Given the description of an element on the screen output the (x, y) to click on. 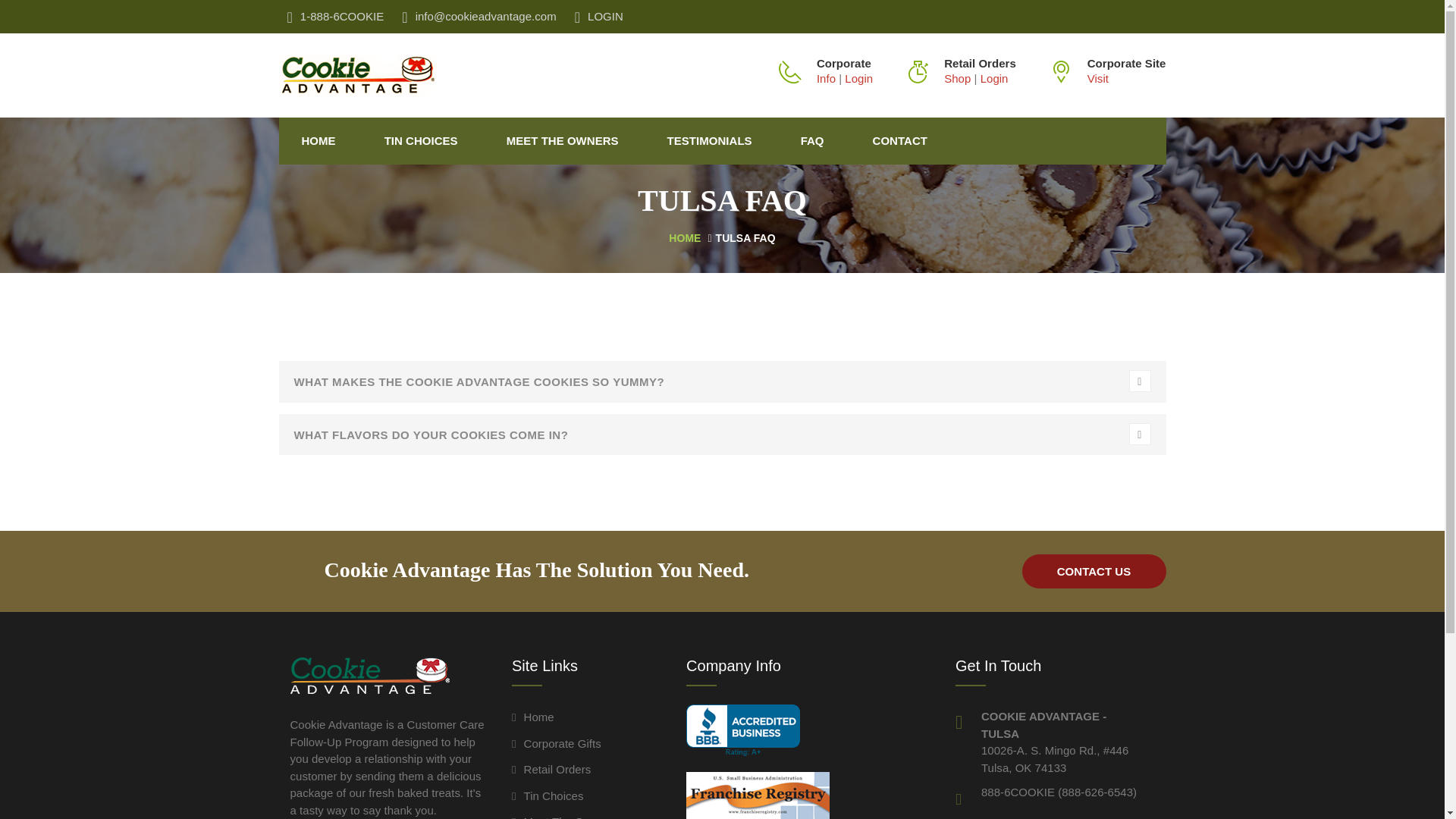
FAQ (812, 140)
Tin Choices (547, 795)
WHAT MAKES THE COOKIE ADVANTAGE COOKIES SO YUMMY? (722, 381)
Shop (957, 78)
Visit (1097, 78)
Retail Orders (551, 768)
TESTIMONIALS (709, 140)
1-888-6COOKIE (336, 16)
CONTACT (893, 140)
Login (994, 78)
WHAT FLAVORS DO YOUR COOKIES COME IN? (722, 434)
Info (825, 78)
Cookie Advantage, Novelties, Bixby, OK (742, 730)
Corporate Gifts (556, 743)
LOGIN (598, 16)
